Given the description of an element on the screen output the (x, y) to click on. 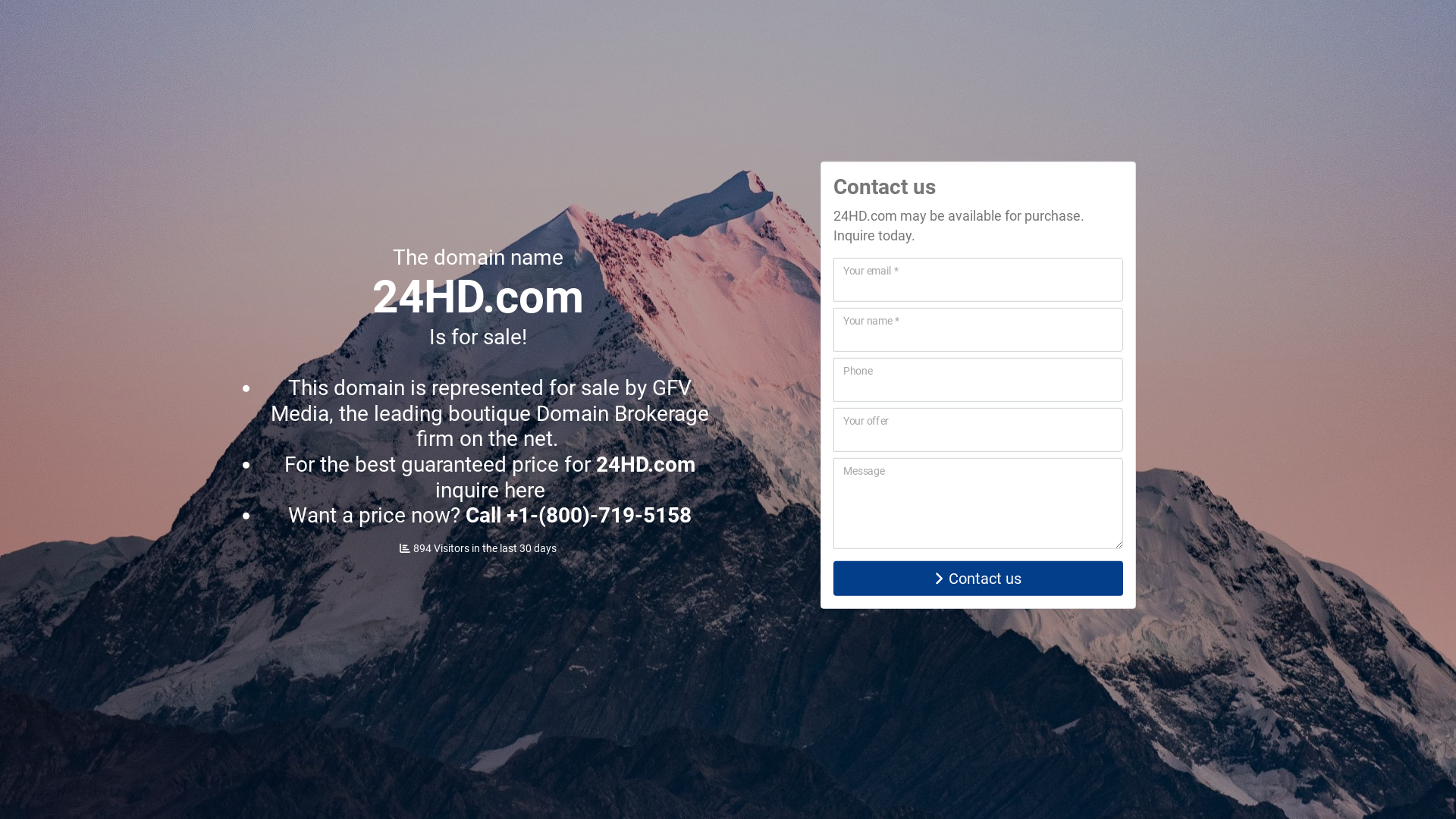
Contact us Element type: text (978, 578)
